Given the description of an element on the screen output the (x, y) to click on. 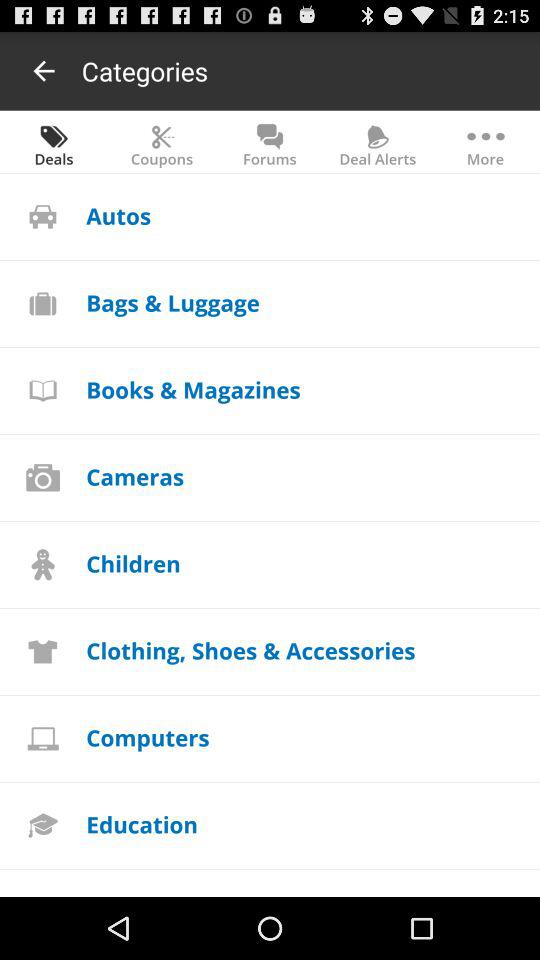
open the item at the bottom (250, 650)
